Given the description of an element on the screen output the (x, y) to click on. 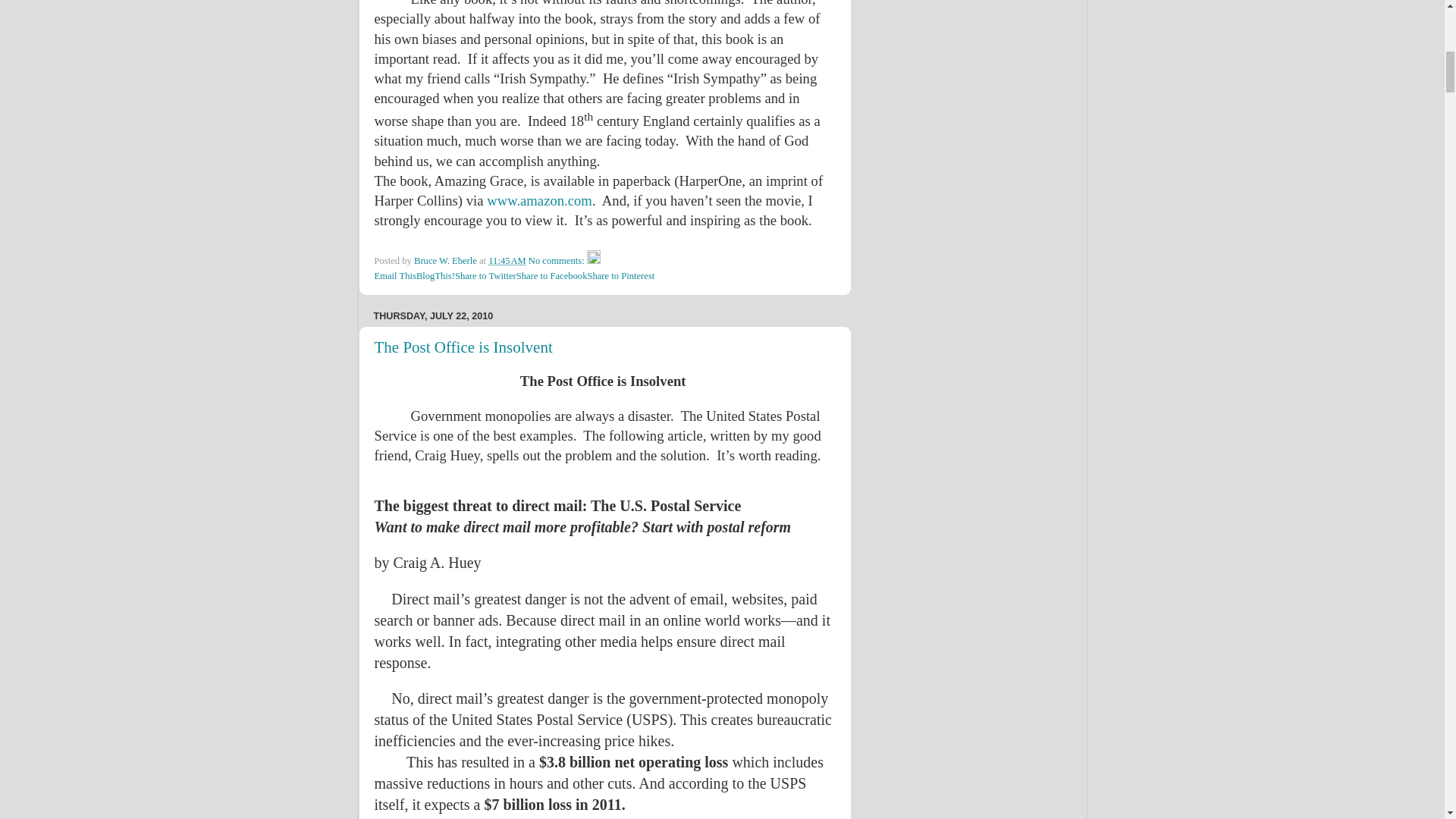
Email This (395, 276)
Share to Facebook (552, 276)
Share to Twitter (485, 276)
author profile (446, 260)
Edit Post (592, 260)
No comments: (557, 260)
Email This (395, 276)
Share to Pinterest (619, 276)
permanent link (506, 260)
The Post Office is Insolvent (463, 347)
Share to Pinterest (619, 276)
Share to Twitter (485, 276)
Share to Facebook (552, 276)
www.amazon.com (539, 200)
